Given the description of an element on the screen output the (x, y) to click on. 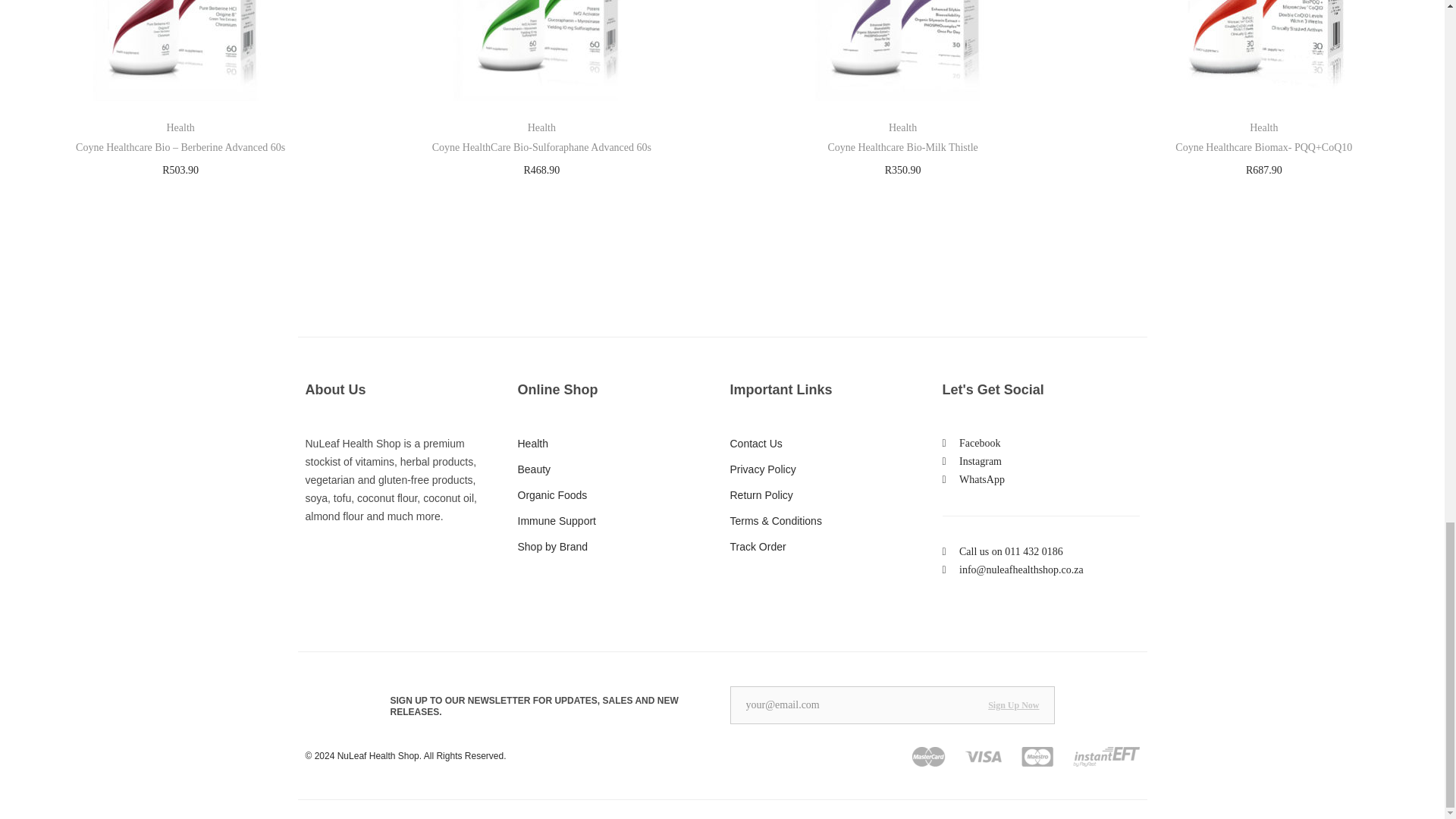
Sign Up Now (1013, 704)
